Given the description of an element on the screen output the (x, y) to click on. 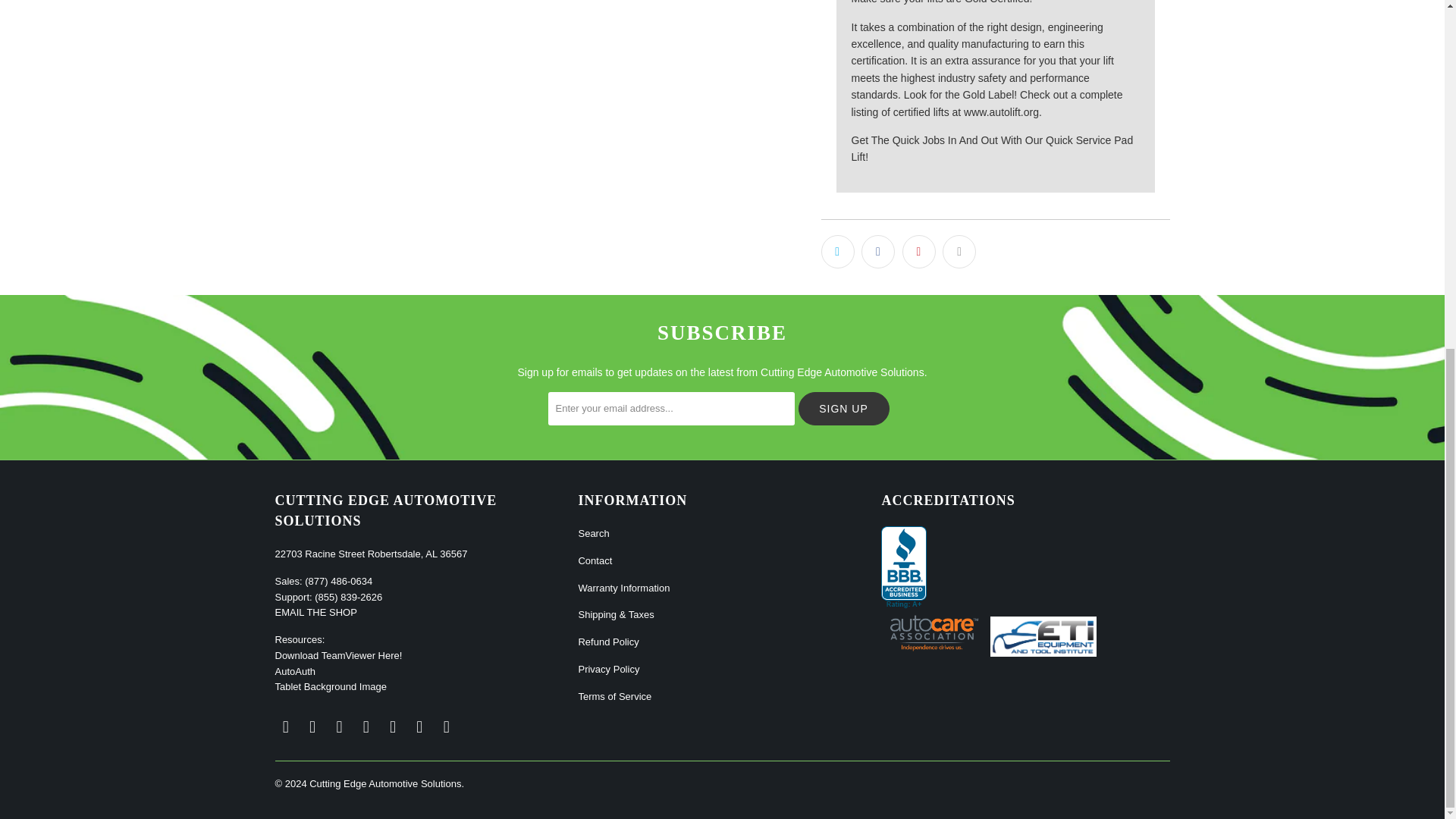
Share this on Twitter (837, 251)
Sign Up (842, 408)
Share this on Pinterest (919, 251)
Share this on Facebook (878, 251)
